Given the description of an element on the screen output the (x, y) to click on. 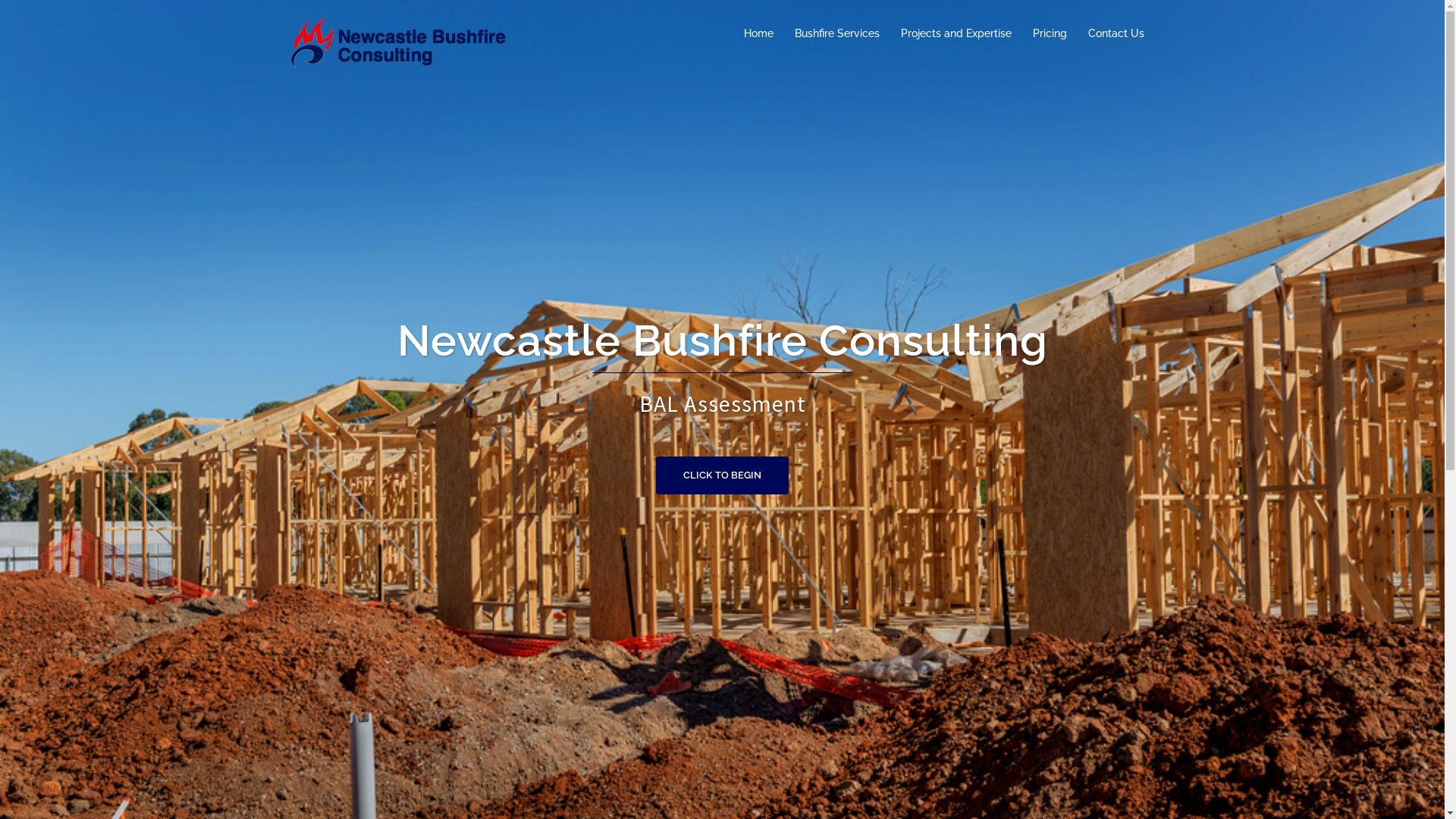
Home Element type: text (757, 33)
CLICK TO BEGIN Element type: text (721, 475)
Newcastle Bushfire Consulting Element type: hover (403, 43)
Contact Us Element type: text (1115, 33)
Pricing Element type: text (1049, 33)
Projects and Expertise Element type: text (955, 33)
Bushfire Services Element type: text (836, 33)
